Given the description of an element on the screen output the (x, y) to click on. 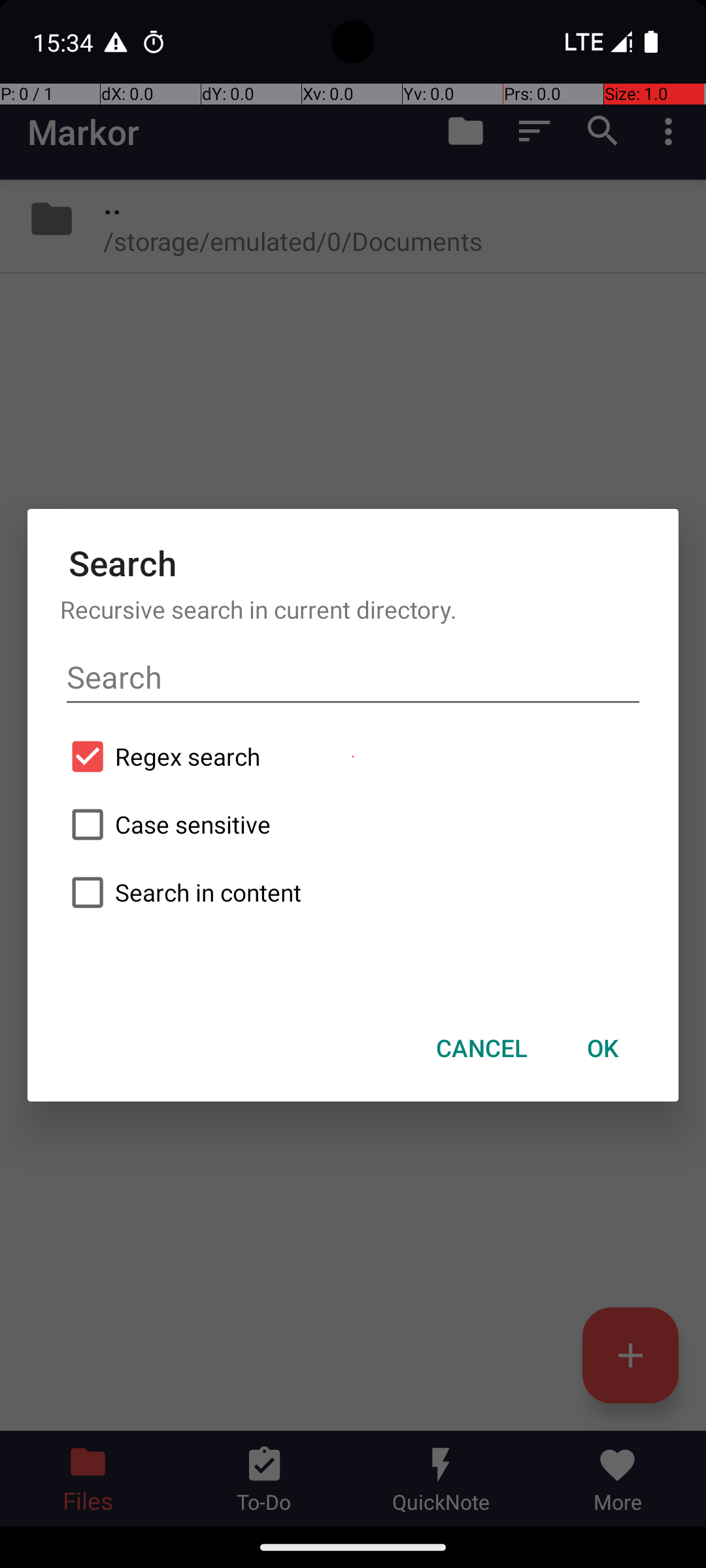
Recursive search in current directory. Element type: android.widget.TextView (352, 608)
Regex search Element type: android.widget.CheckBox (352, 756)
Case sensitive Element type: android.widget.CheckBox (352, 824)
Search in content Element type: android.widget.CheckBox (352, 892)
